Given the description of an element on the screen output the (x, y) to click on. 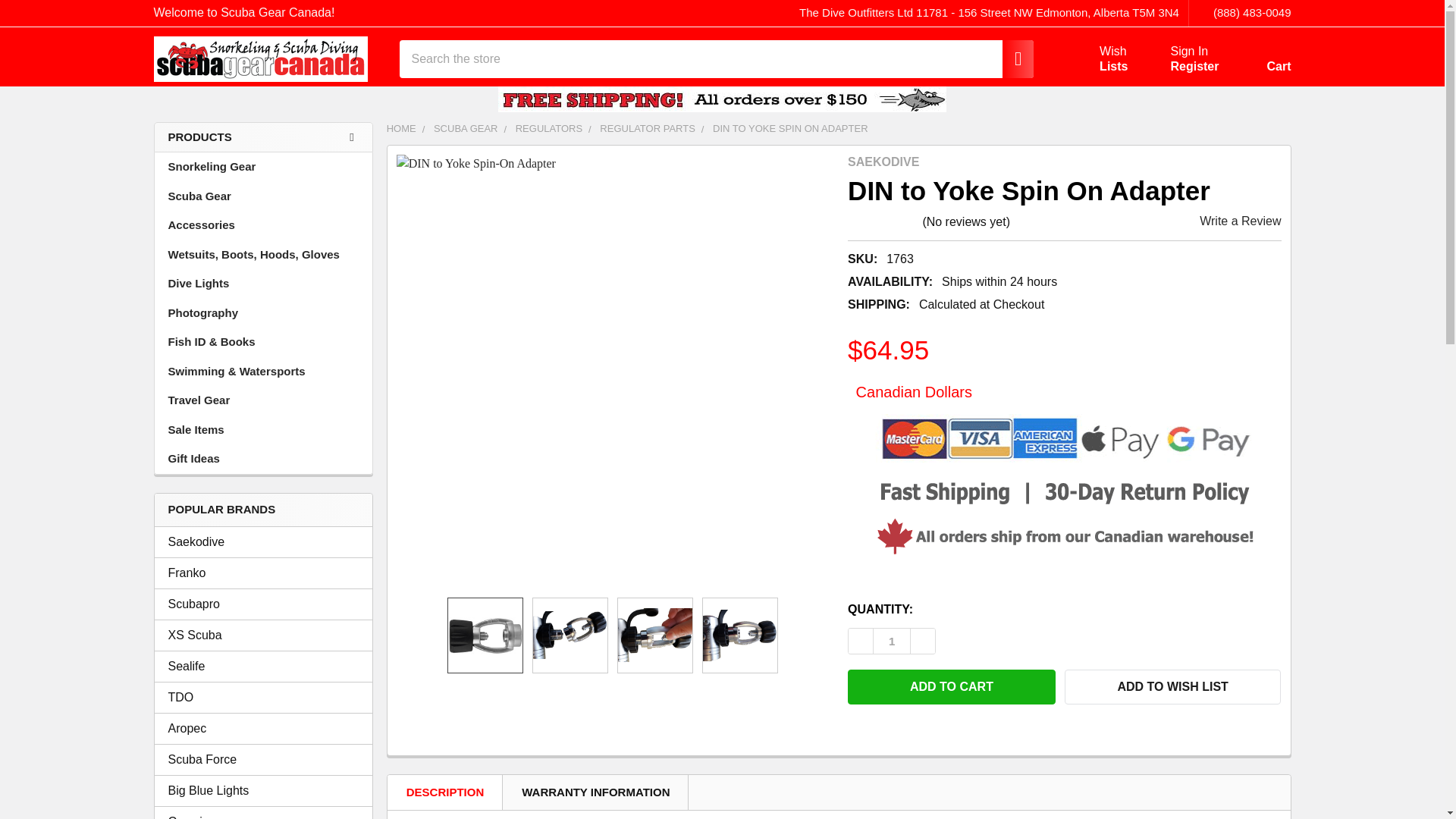
Add to Cart (951, 686)
Aropec (263, 728)
Saekodive (263, 541)
Franko (263, 573)
XS Scuba (263, 635)
Scuba Force (263, 760)
1 (891, 640)
Sealife (263, 665)
Cressi (263, 816)
TDO (263, 697)
Cart (1260, 62)
Search (1010, 58)
Scubapro (1095, 59)
DIN to Yoke Spin-On Adapter (263, 603)
